Given the description of an element on the screen output the (x, y) to click on. 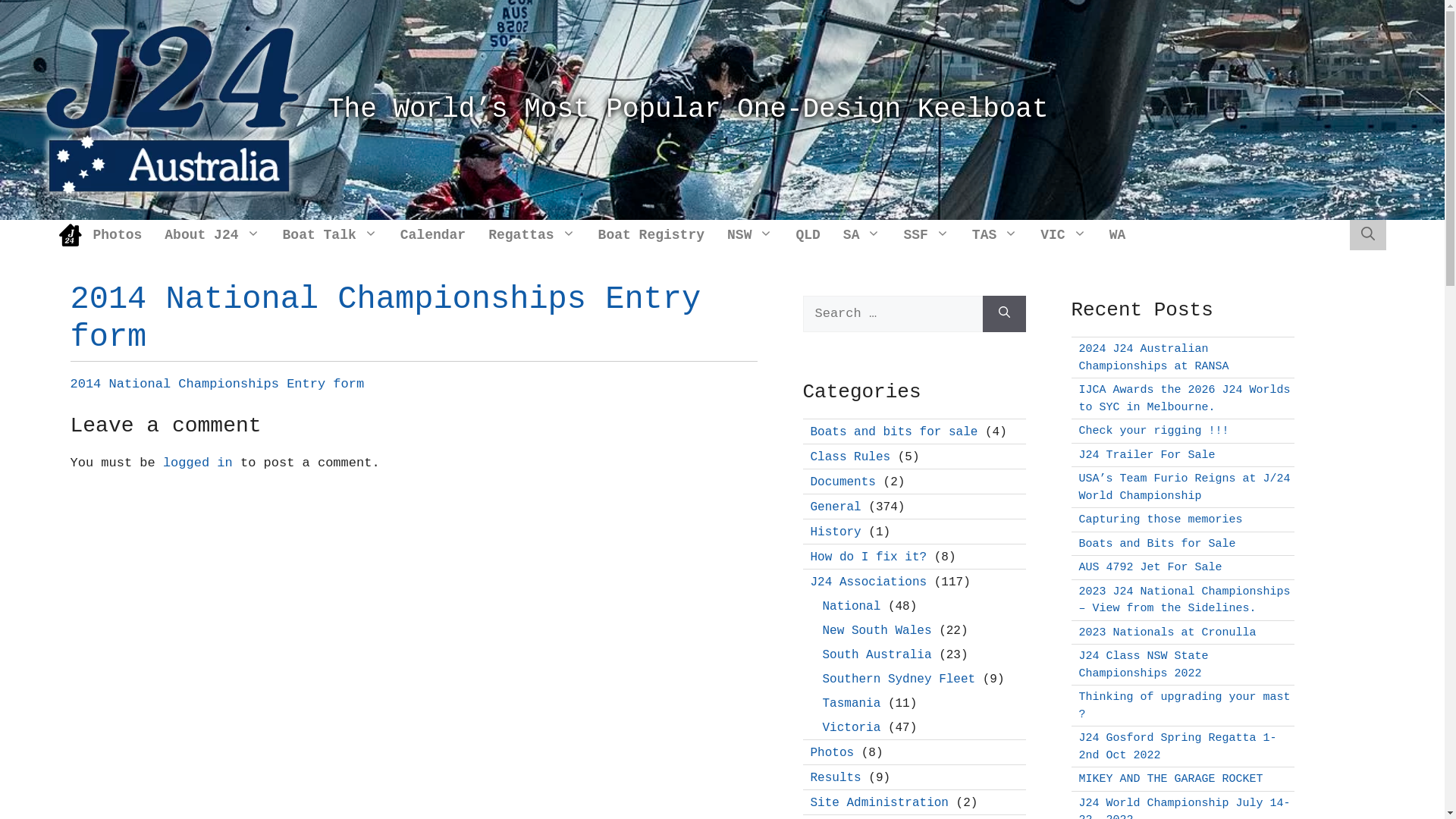
SSF Element type: text (925, 234)
TAS Element type: text (994, 234)
Boats and Bits for Sale Element type: text (1156, 542)
J24 Australia.. Element type: hover (172, 109)
Boat Registry Element type: text (650, 234)
Tasmania Element type: text (851, 702)
Search for: Element type: hover (892, 313)
J24 Associations Element type: text (867, 581)
VIC Element type: text (1063, 234)
Check your rigging !!! Element type: text (1153, 430)
J24 Class NSW State Championships 2022 Element type: text (1143, 664)
Photos Element type: text (117, 234)
Southern Sydney Fleet Element type: text (898, 678)
How do I fix it? Element type: text (867, 557)
Regattas Element type: text (531, 234)
Photos Element type: text (831, 752)
SA Element type: text (861, 234)
General Element type: text (834, 507)
National Element type: text (851, 605)
Thinking of upgrading your mast ? Element type: text (1183, 705)
NSW Element type: text (749, 234)
Documents Element type: text (842, 481)
Boat Talk Element type: text (330, 234)
History Element type: text (834, 531)
Site Administration Element type: text (878, 802)
South Australia Element type: text (876, 654)
Home Element type: text (70, 234)
2023 Nationals at Cronulla Element type: text (1166, 632)
J24 Gosford Spring Regatta 1-2nd Oct 2022 Element type: text (1177, 746)
Capturing those memories Element type: text (1160, 519)
2014 National Championships Entry form Element type: text (216, 383)
Results Element type: text (834, 777)
AUS 4792 Jet For Sale Element type: text (1149, 567)
Calendar Element type: text (432, 234)
Victoria Element type: text (851, 727)
New South Wales Element type: text (876, 630)
J24 Trailer For Sale Element type: text (1146, 454)
Class Rules Element type: text (849, 457)
About J24 Element type: text (211, 234)
MIKEY AND THE GARAGE ROCKET Element type: text (1170, 778)
IJCA Awards the 2026 J24 Worlds to SYC in Melbourne. Element type: text (1183, 398)
QLD Element type: text (807, 234)
Boats and bits for sale Element type: text (893, 431)
2024 J24 Australian Championships at RANSA Element type: text (1153, 357)
WA Element type: text (1117, 234)
logged in Element type: text (197, 462)
